Given the description of an element on the screen output the (x, y) to click on. 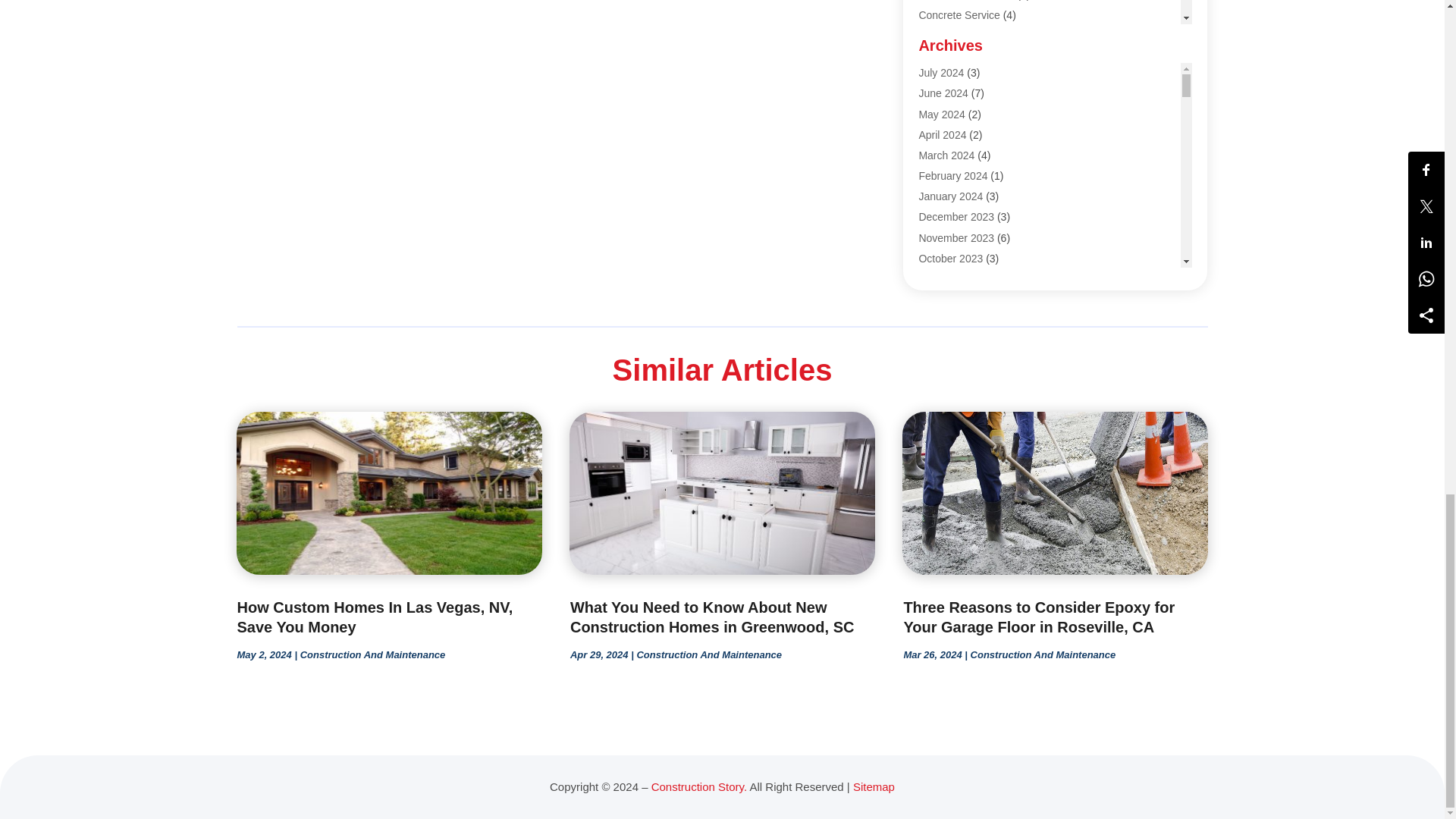
Concrete Service (958, 15)
Construction And Maintenance (990, 97)
Construction Company (972, 118)
